Given the description of an element on the screen output the (x, y) to click on. 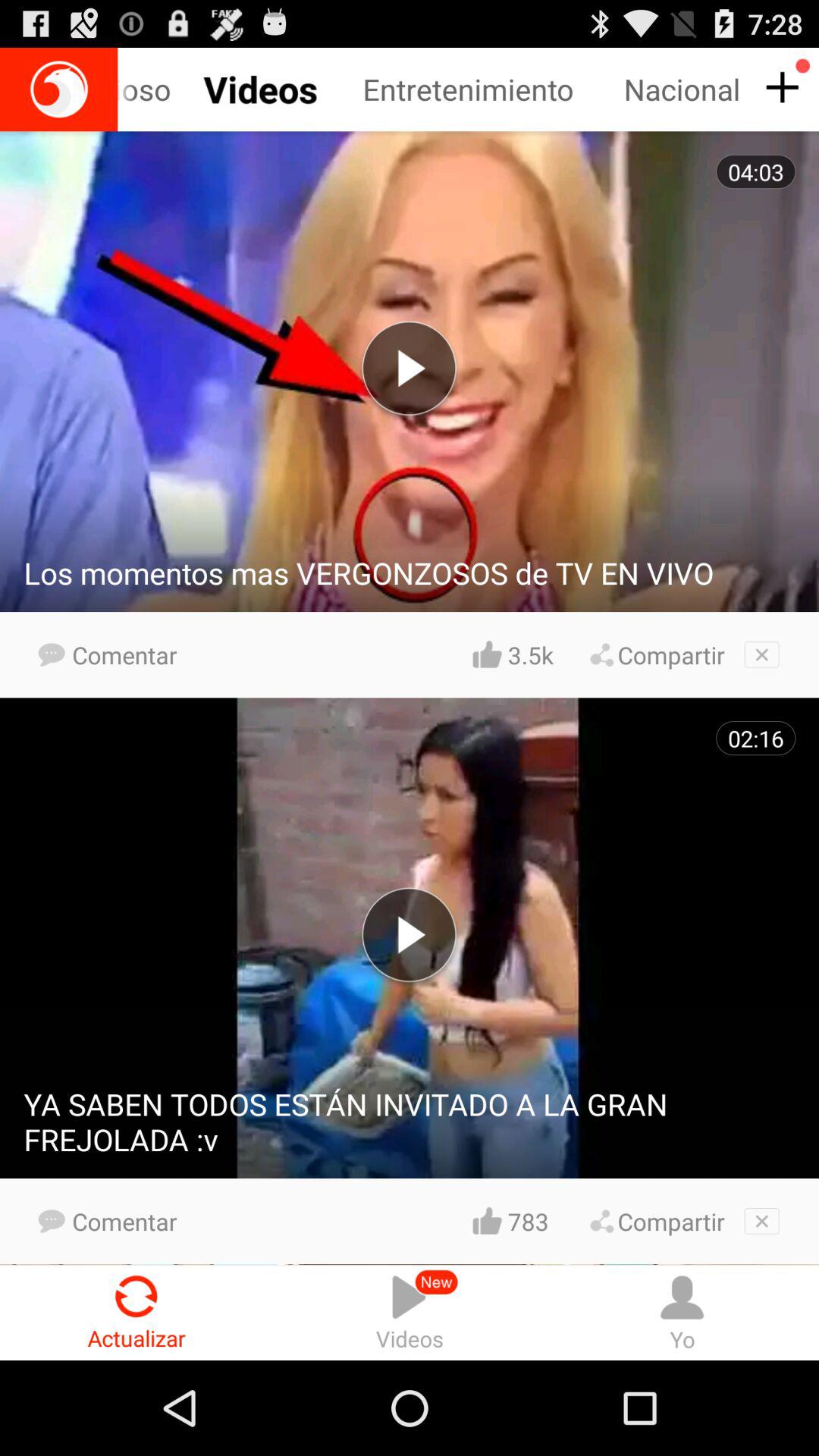
exit area (761, 1221)
